Given the description of an element on the screen output the (x, y) to click on. 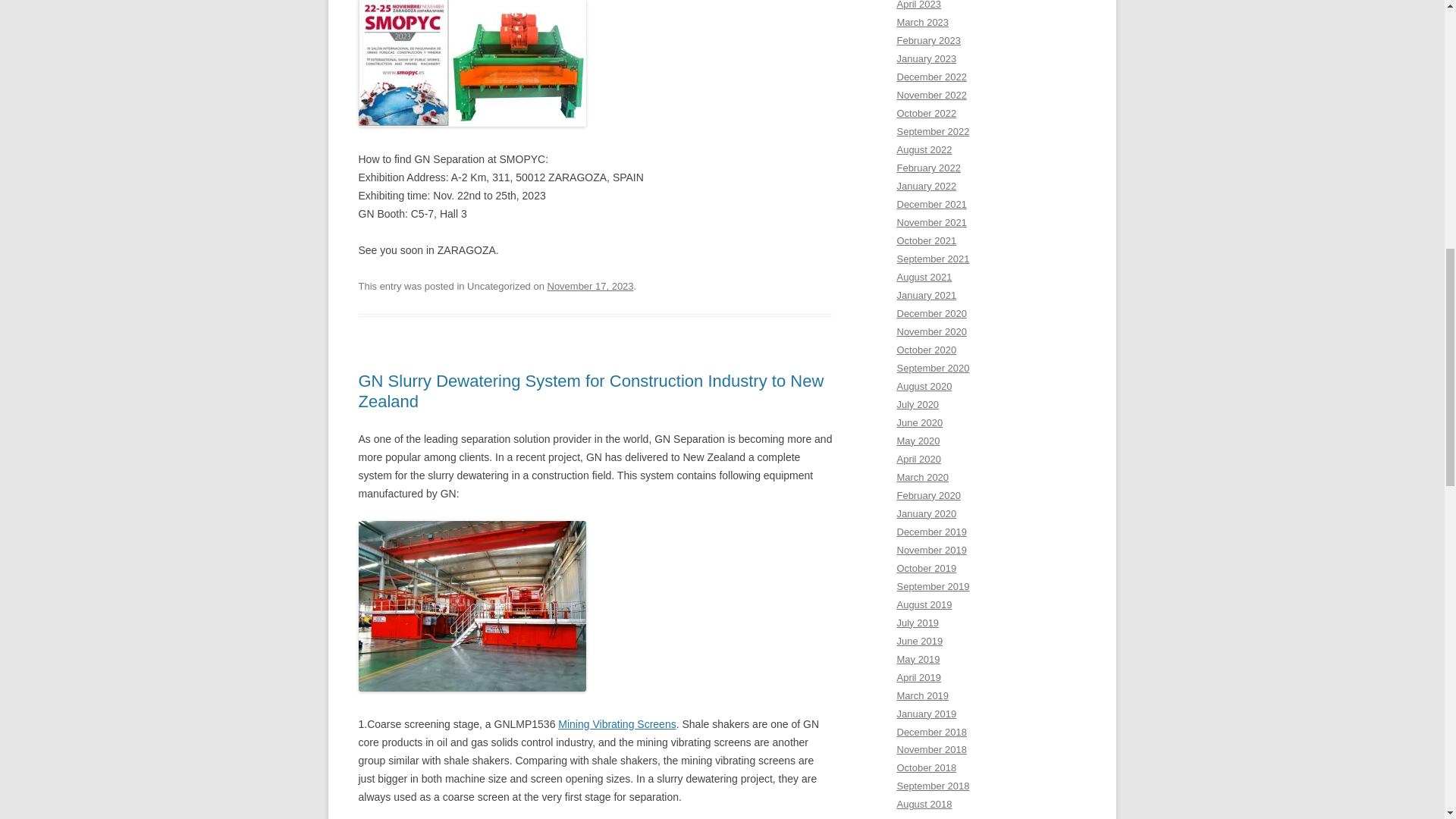
Mining Vibrating Screens (616, 724)
6:15 am (590, 285)
November 17, 2023 (590, 285)
